Given the description of an element on the screen output the (x, y) to click on. 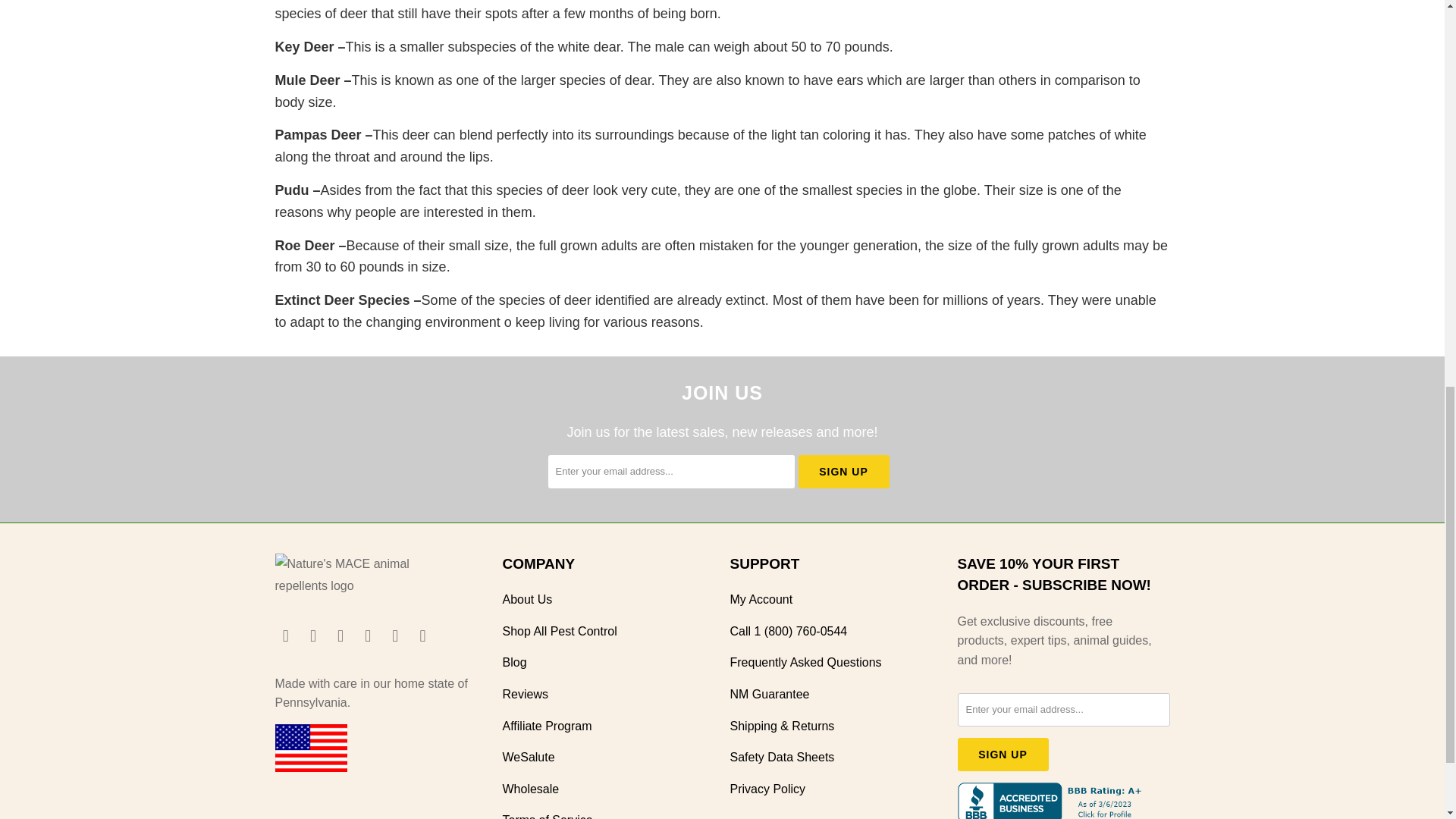
Nature's Mace on YouTube (422, 636)
Nature's Mace on Facebook (286, 636)
Nature's Mace on Instagram (313, 636)
Sign Up (842, 471)
Nature's Mace on Twitter (395, 636)
Nature's Mace on Pinterest (368, 636)
Sign Up (1002, 754)
Nature's Mace on LinkedIn (341, 636)
